Given the description of an element on the screen output the (x, y) to click on. 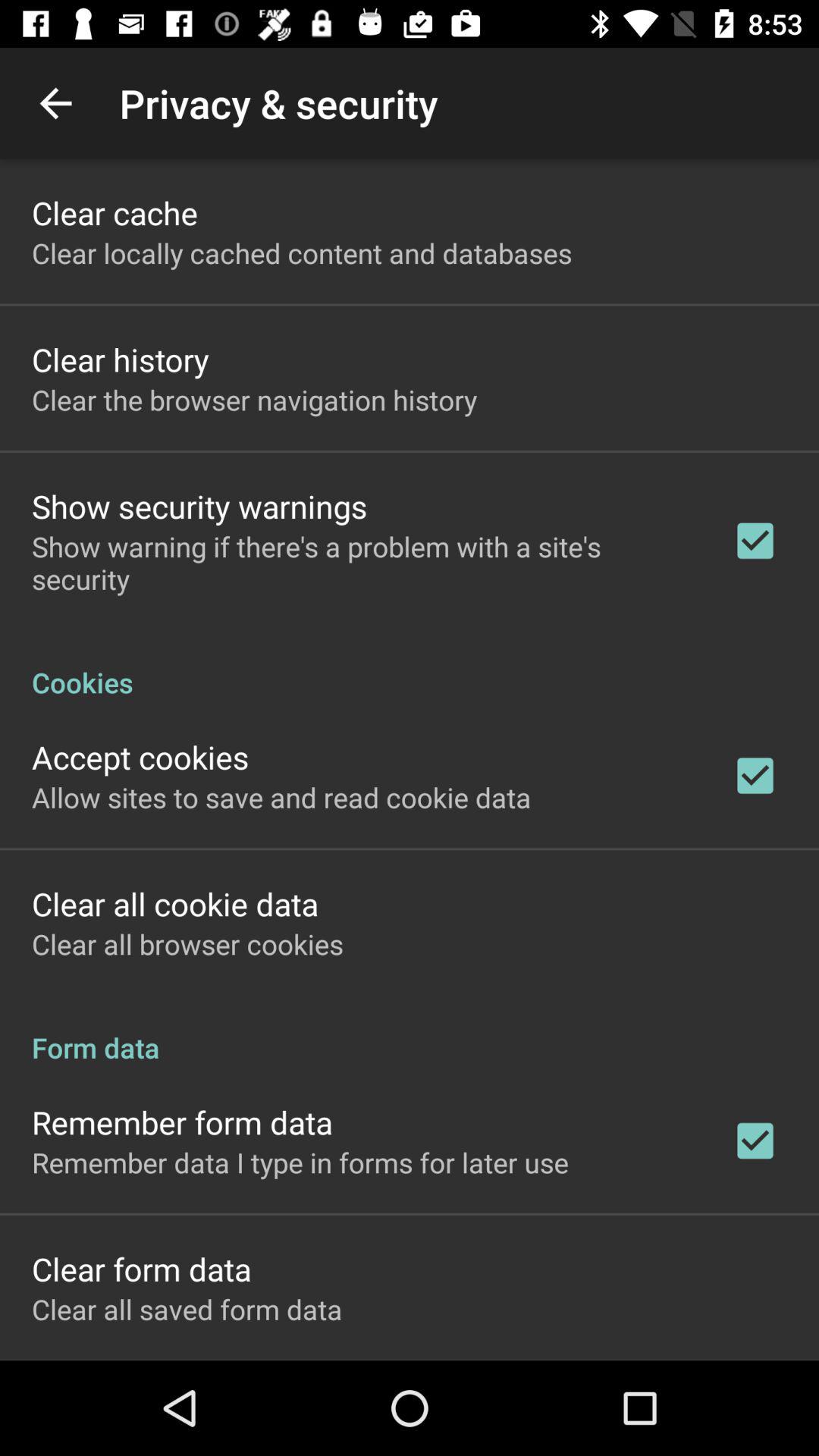
click accept cookies icon (140, 756)
